Given the description of an element on the screen output the (x, y) to click on. 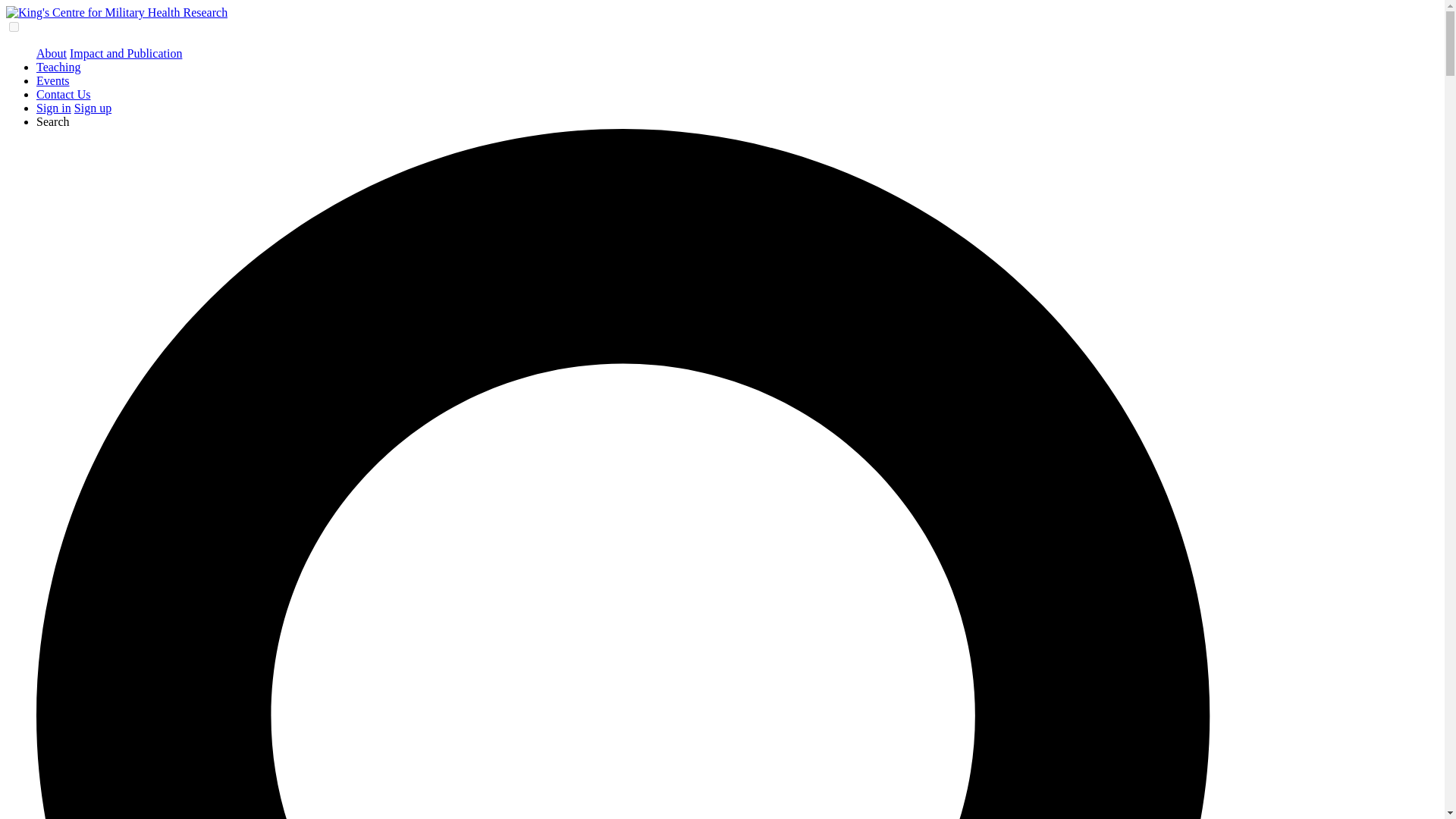
Events (52, 80)
Teaching (58, 66)
Sign in (53, 107)
About (51, 52)
Contact Us (63, 93)
on (13, 26)
Impact and Publication (125, 52)
Sign up (93, 107)
